Given the description of an element on the screen output the (x, y) to click on. 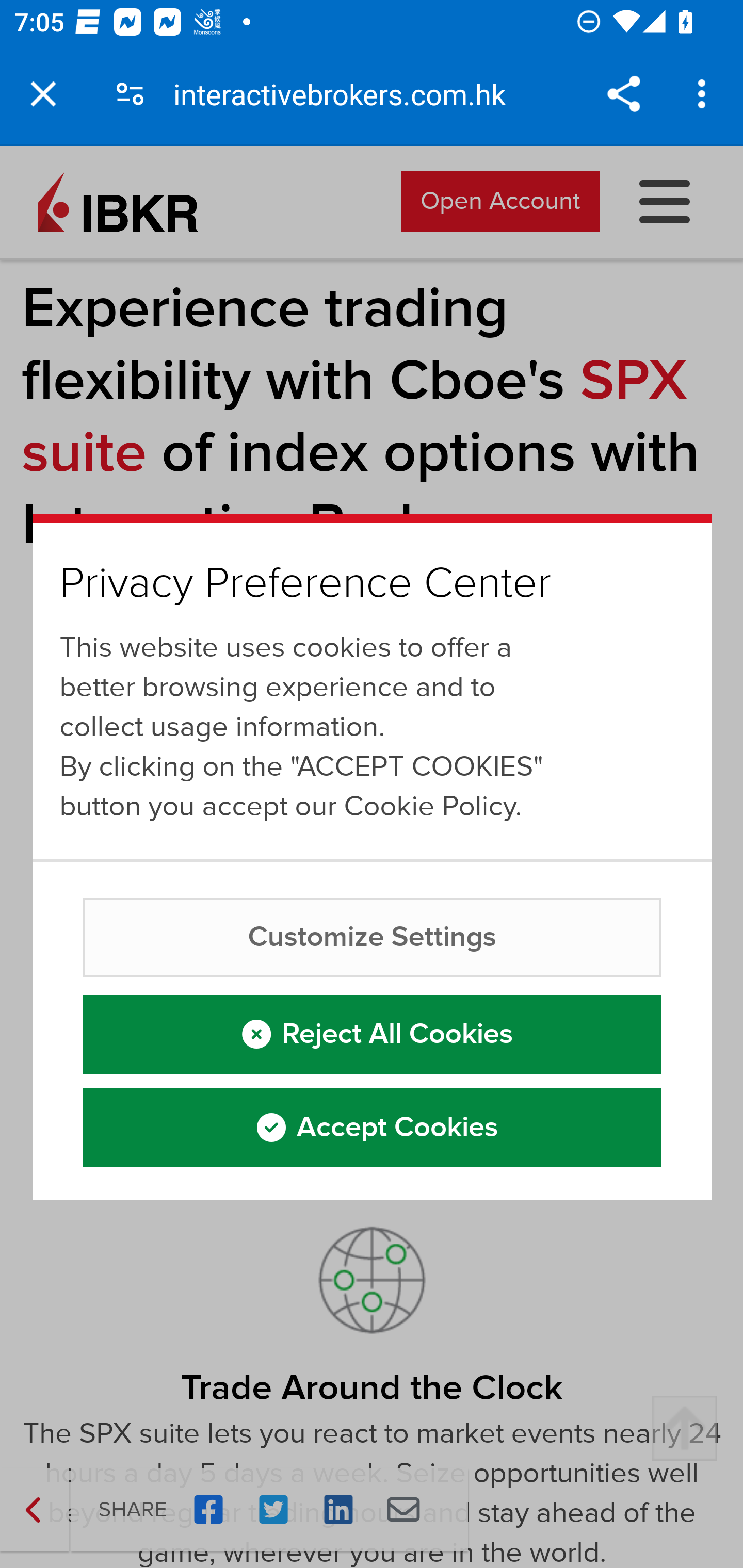
Close tab (43, 93)
Share (623, 93)
Customize and control Google Chrome (705, 93)
Connection is secure (129, 93)
interactivebrokers.com.hk (346, 93)
Customize Settings (372, 939)
 Reject All Cookies  Reject All Cookies (372, 1034)
 Accept Cookies  Accept Cookies (372, 1128)
